Given the description of an element on the screen output the (x, y) to click on. 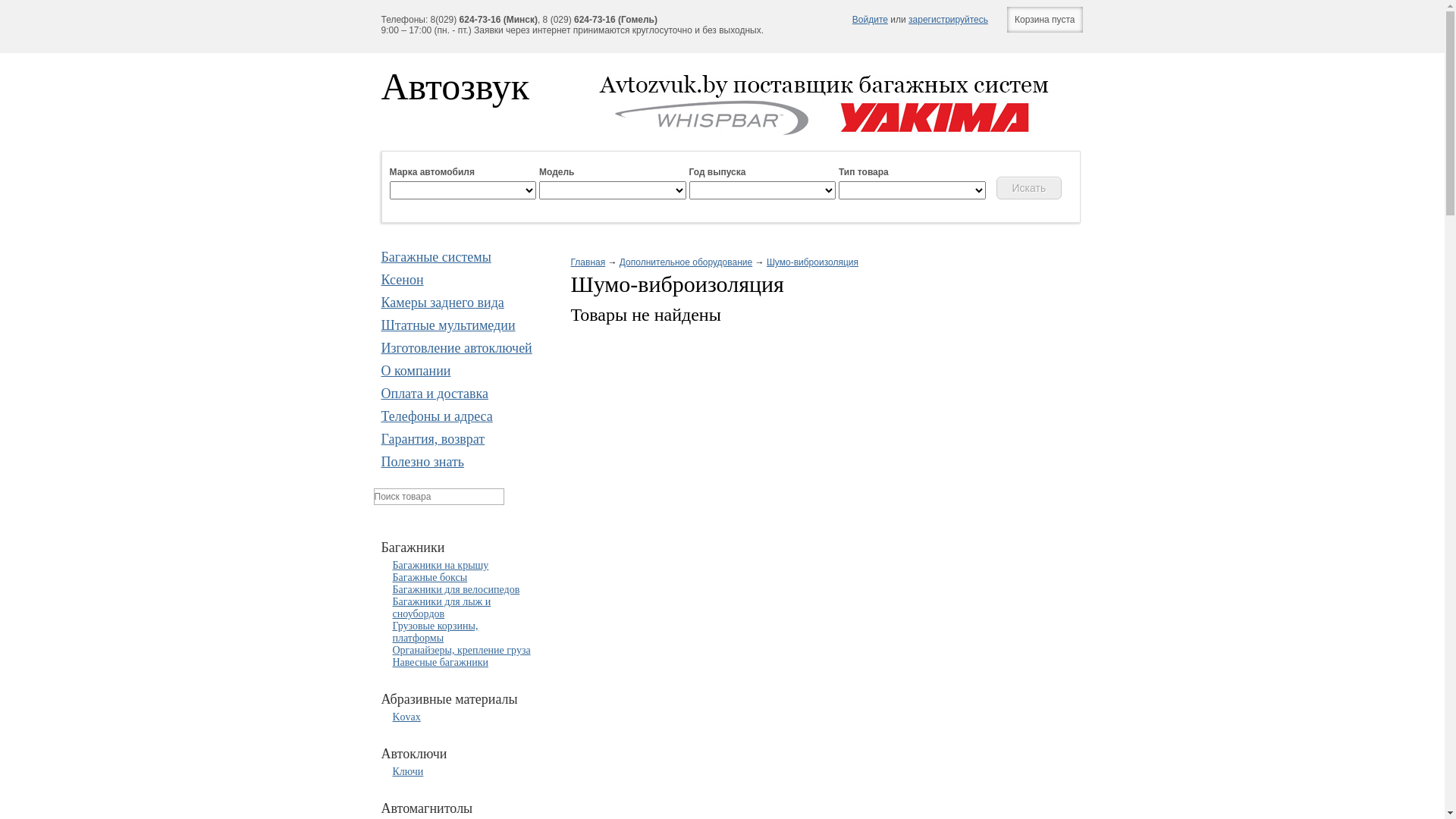
Kovax Element type: text (406, 716)
